Given the description of an element on the screen output the (x, y) to click on. 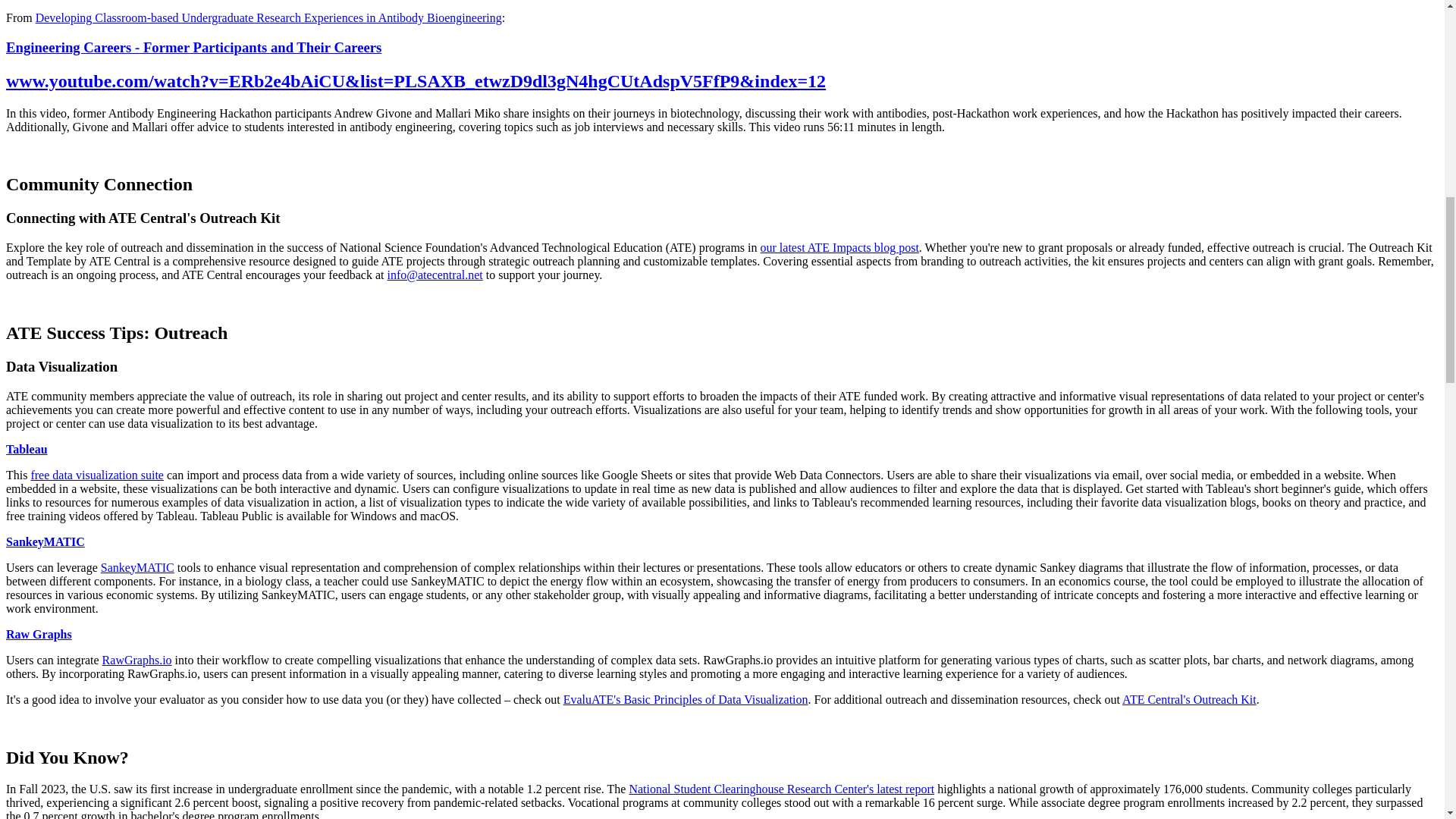
Engineering Careers - Former Participants and Their Careers (193, 47)
free data visualization suite (96, 474)
EvaluATE's Basic Principles of Data Visualization (685, 698)
our latest ATE Impacts blog post (839, 246)
SankeyMATIC (44, 541)
Tableau (26, 449)
SankeyMATIC (137, 567)
RawGraphs.io (136, 659)
ATE Central's Outreach Kit (1189, 698)
Raw Graphs (38, 634)
